Given the description of an element on the screen output the (x, y) to click on. 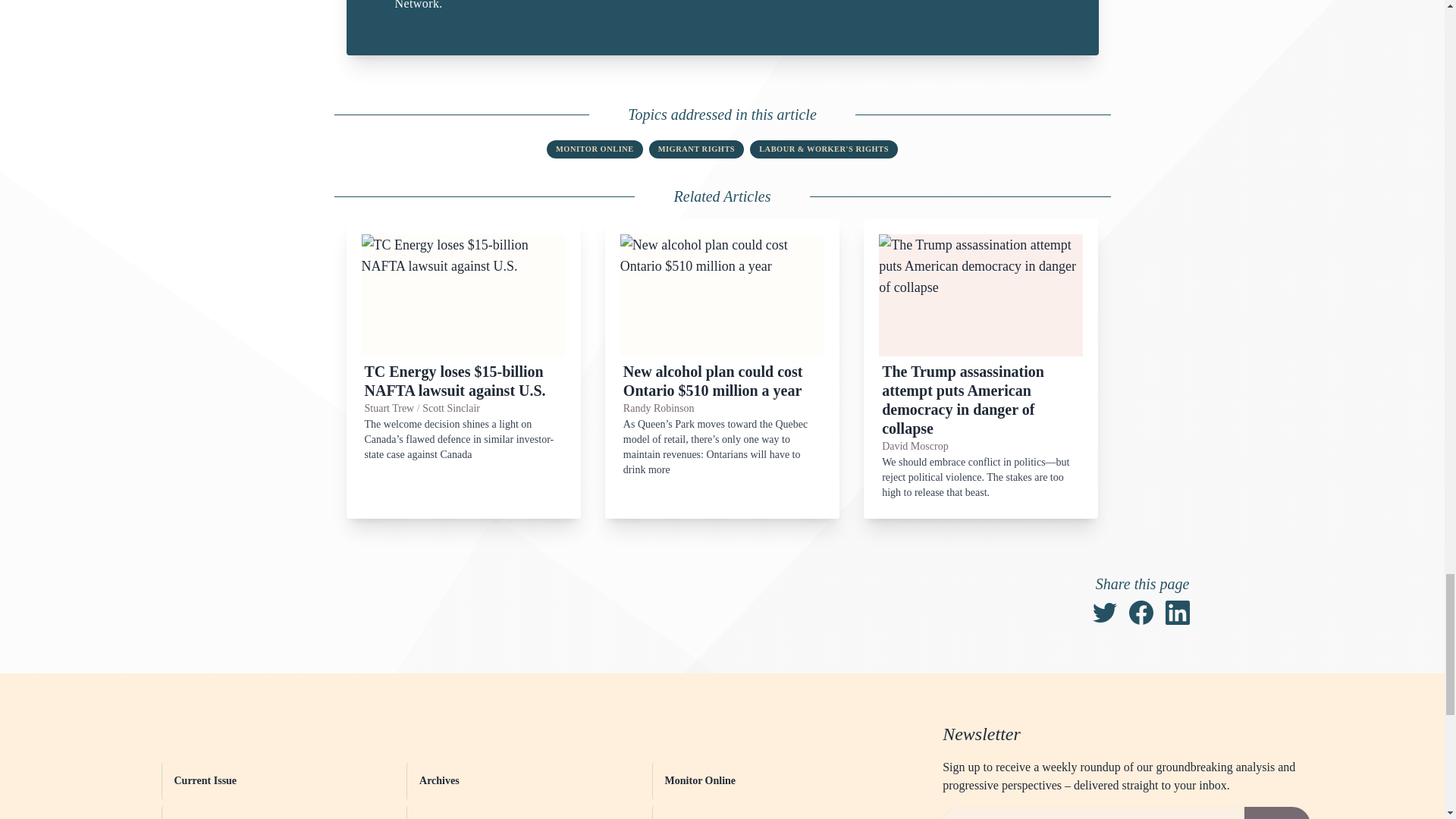
Share on Facebook (1140, 612)
Subscribe (1277, 812)
Share on LinkedIn (1176, 612)
Tweet (1104, 612)
